Given the description of an element on the screen output the (x, y) to click on. 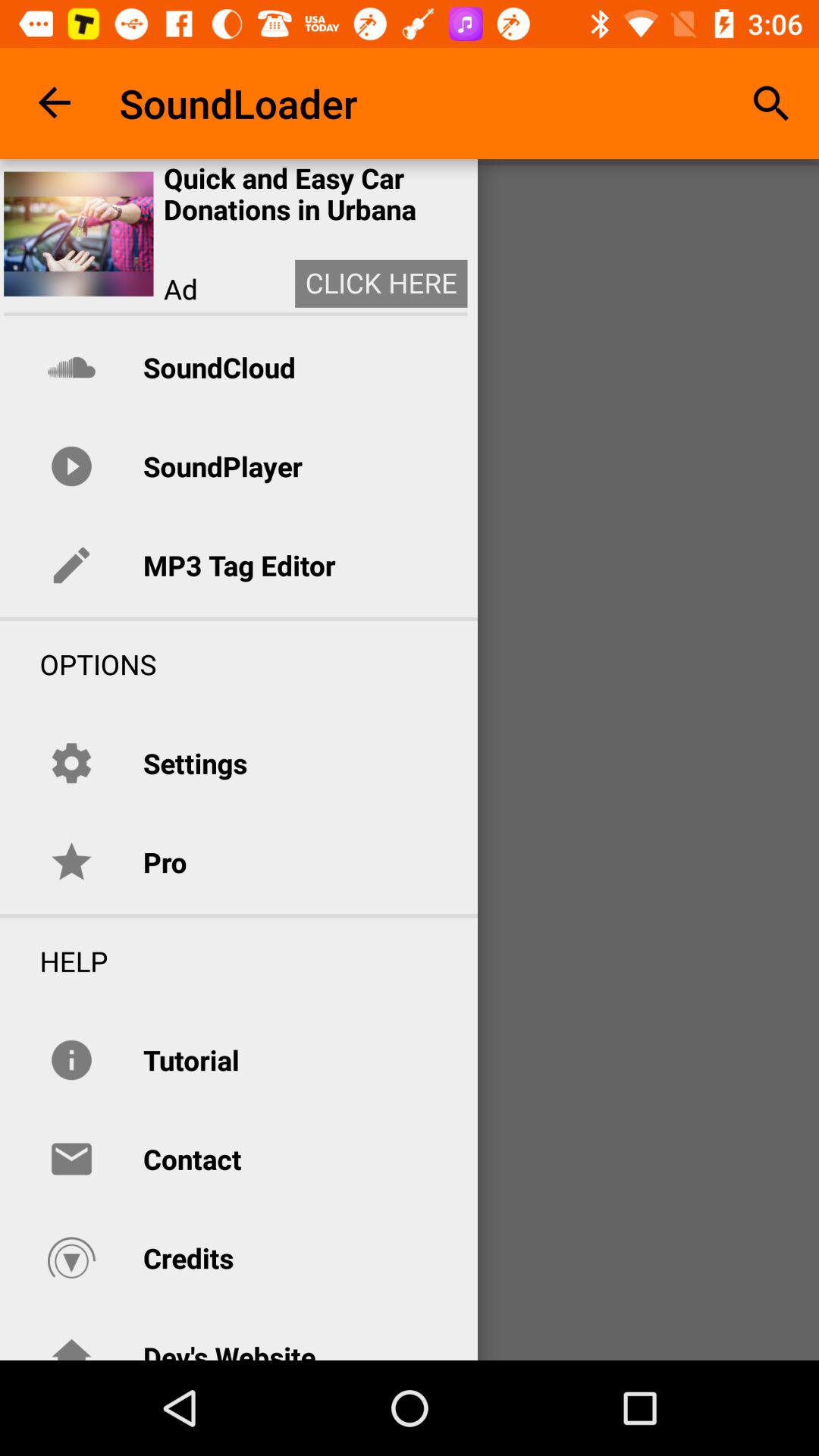
select mp3 tag editor (239, 565)
